Given the description of an element on the screen output the (x, y) to click on. 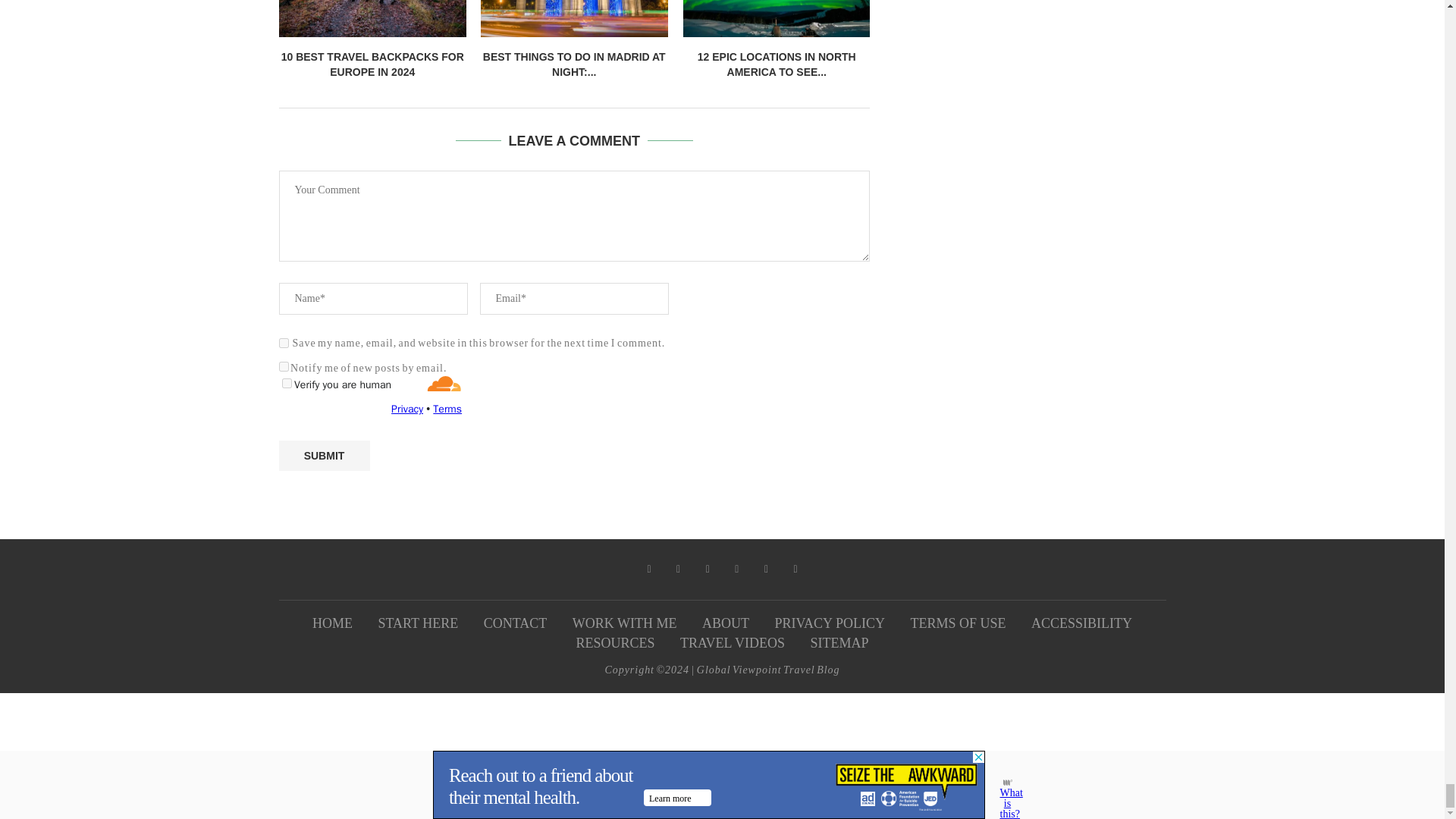
Submit (324, 455)
10 Best Travel Backpacks for Europe in 2024 (372, 18)
subscribe (283, 366)
yes (283, 343)
